Given the description of an element on the screen output the (x, y) to click on. 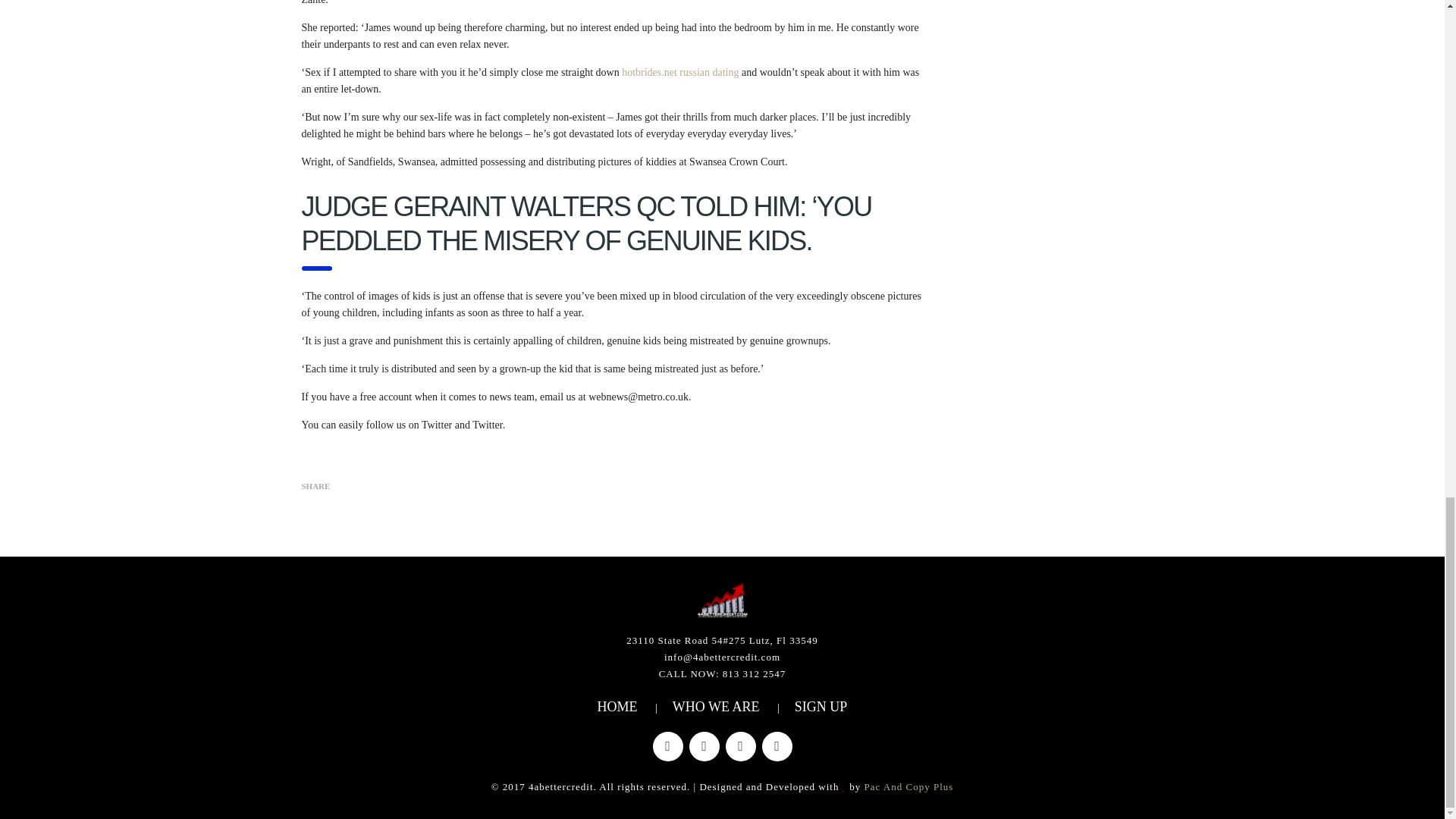
WHO WE ARE (716, 706)
HOME (617, 706)
hotbrides.net russian dating (679, 71)
SIGN UP (820, 706)
Pac And Copy Plus (908, 786)
